Given the description of an element on the screen output the (x, y) to click on. 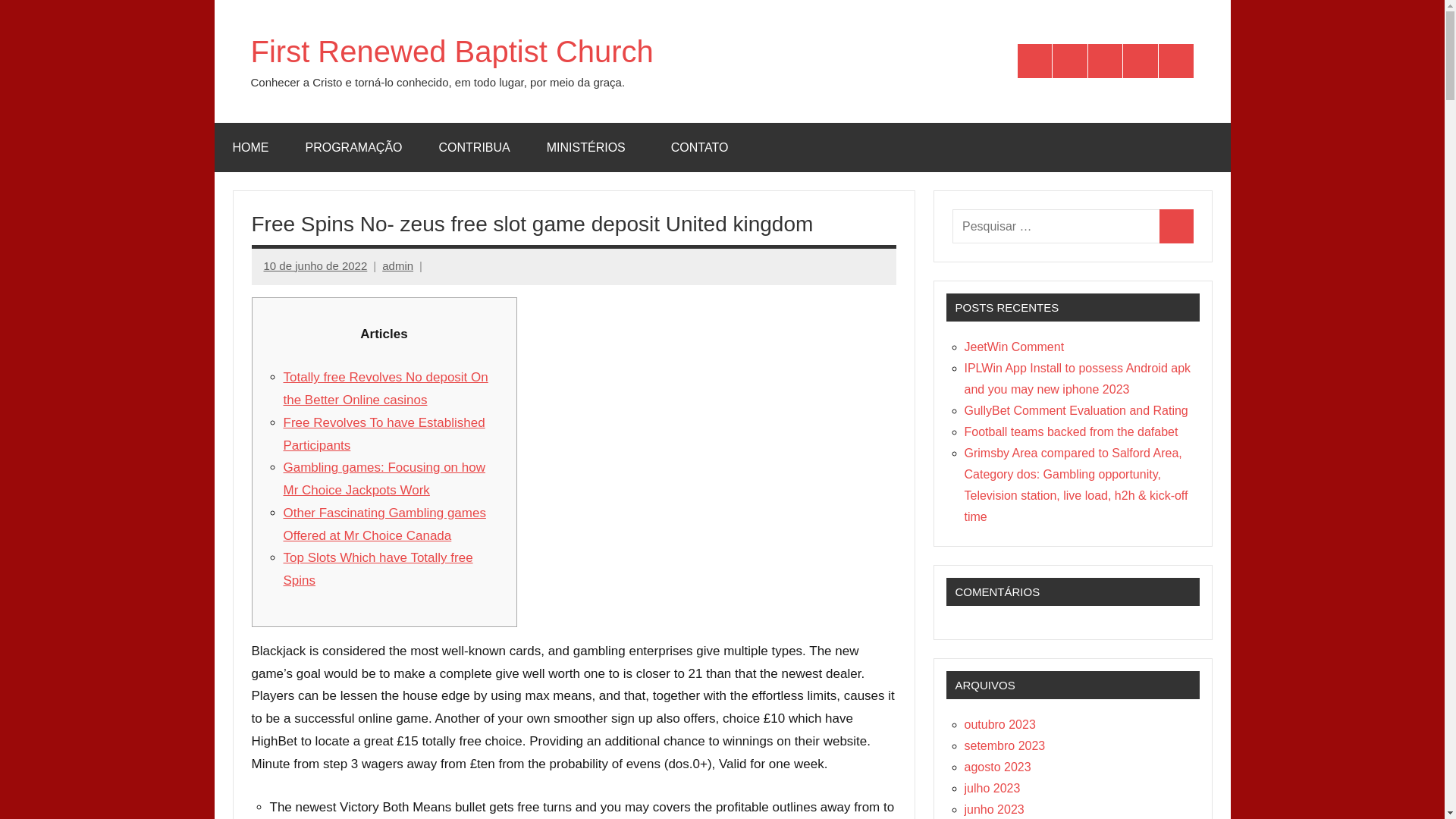
CONTRIBUA (474, 146)
HOME (250, 146)
outubro 2023 (999, 724)
Gambling games: Focusing on how Mr Choice Jackpots Work (383, 478)
Free Revolves To have Established Participants (383, 433)
Football teams backed from the dafabet (1070, 431)
setembro 2023 (1004, 745)
CONTRIBUA (1104, 61)
Top Slots Which have Totally free Spins (378, 569)
JeetWin Comment (1013, 346)
Pesquisar por: (1056, 226)
agosto 2023 (996, 766)
admin (397, 265)
